Given the description of an element on the screen output the (x, y) to click on. 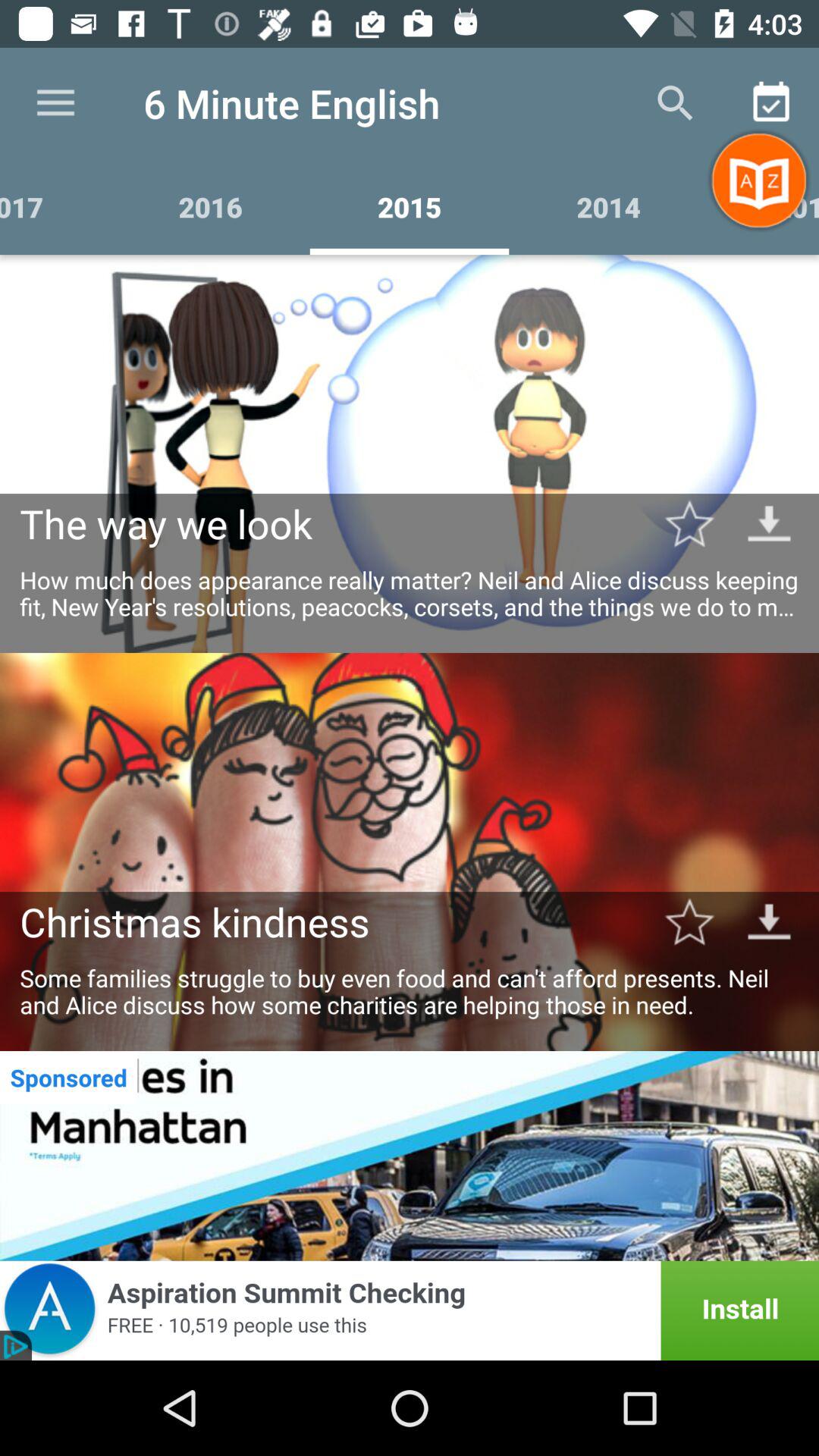
go to downlodaing (769, 523)
